Given the description of an element on the screen output the (x, y) to click on. 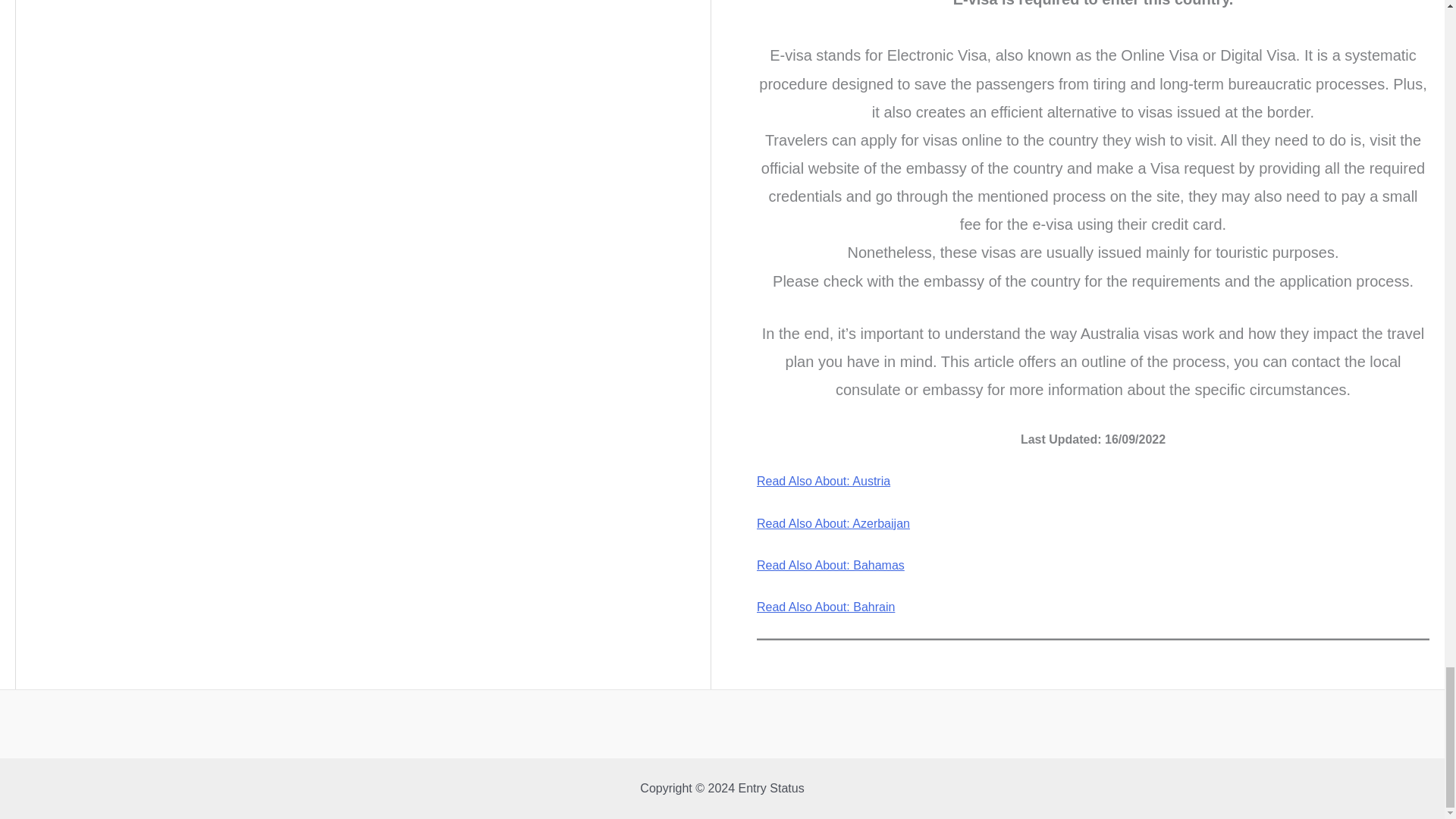
Read Also About: Bahamas (830, 564)
Read Also About: Azerbaijan (833, 522)
Read Also About: Bahrain (826, 606)
Read Also About: Austria (823, 481)
